Given the description of an element on the screen output the (x, y) to click on. 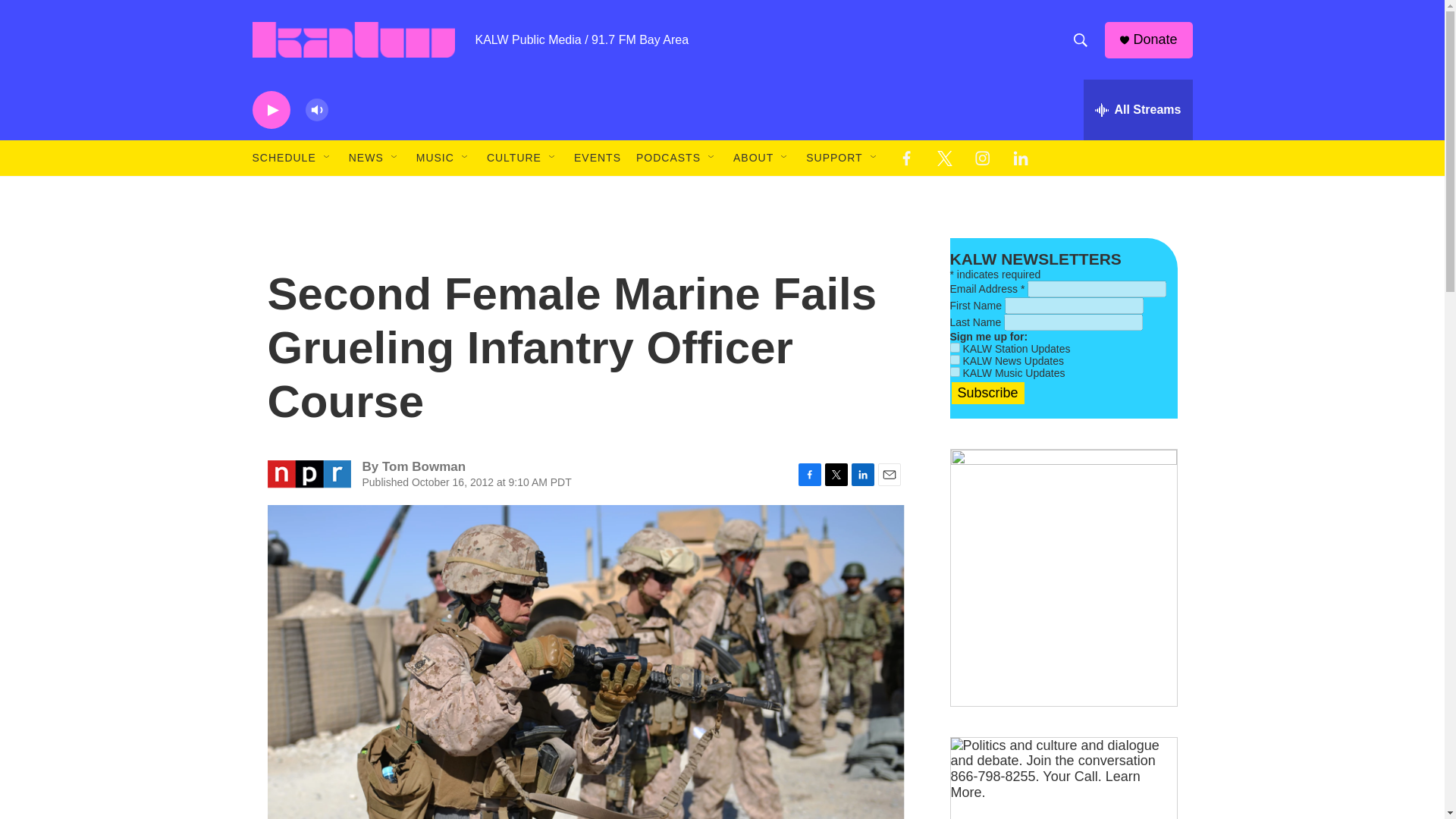
4 (954, 371)
1 (954, 359)
Subscribe (986, 393)
2 (954, 347)
